Given the description of an element on the screen output the (x, y) to click on. 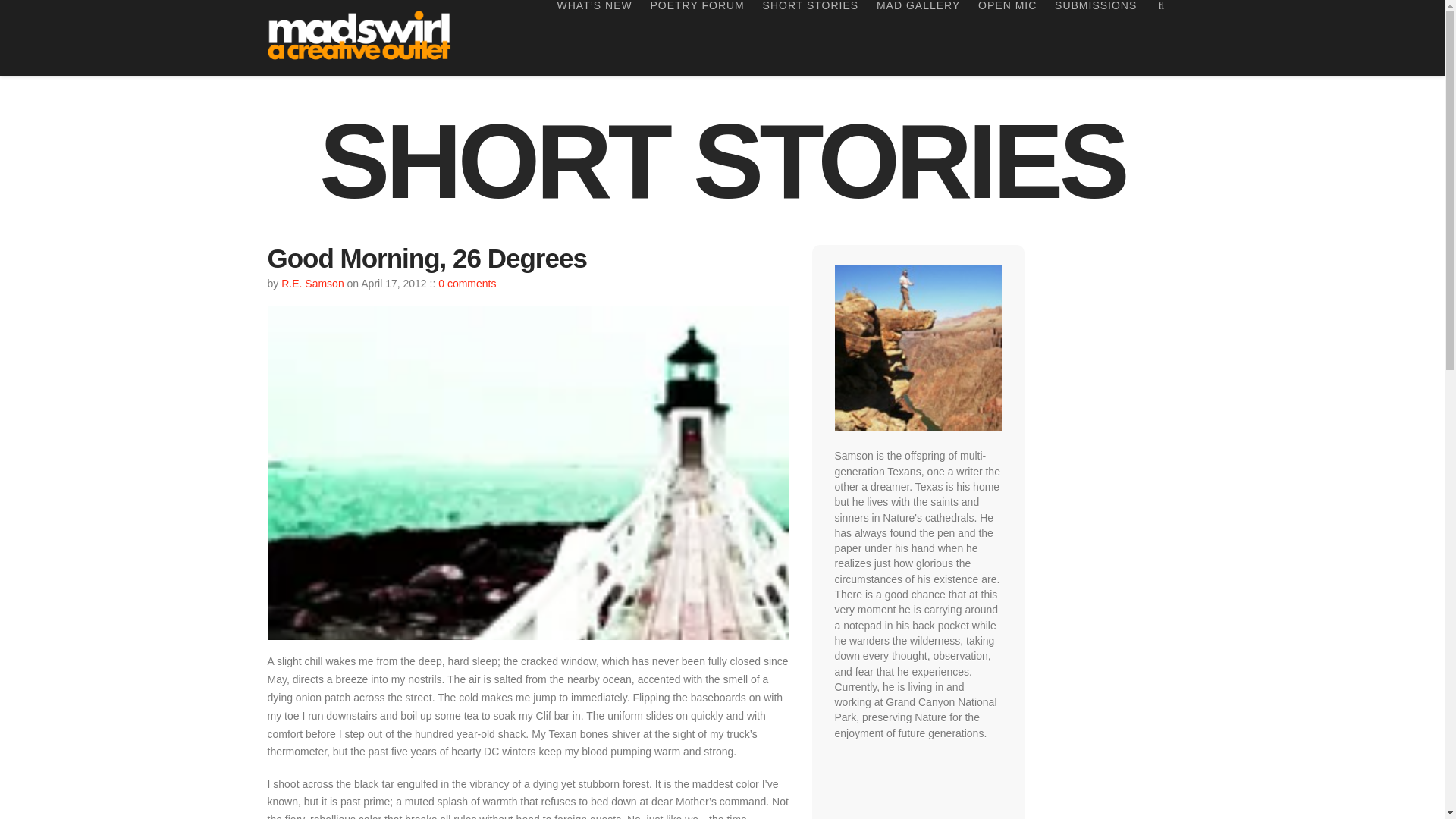
post comments (467, 283)
MAD GALLERY (918, 38)
POETRY FORUM (698, 38)
Short Stories (721, 160)
SHORT STORIES (721, 160)
The whole mad swirl of everything to come begins now! (361, 34)
0 comments (467, 283)
Posts by R.E. Samson (312, 283)
SUBMISSIONS (1095, 38)
R.E. Samson (312, 283)
OPEN MIC (1007, 38)
SHORT STORIES (810, 38)
